Given the description of an element on the screen output the (x, y) to click on. 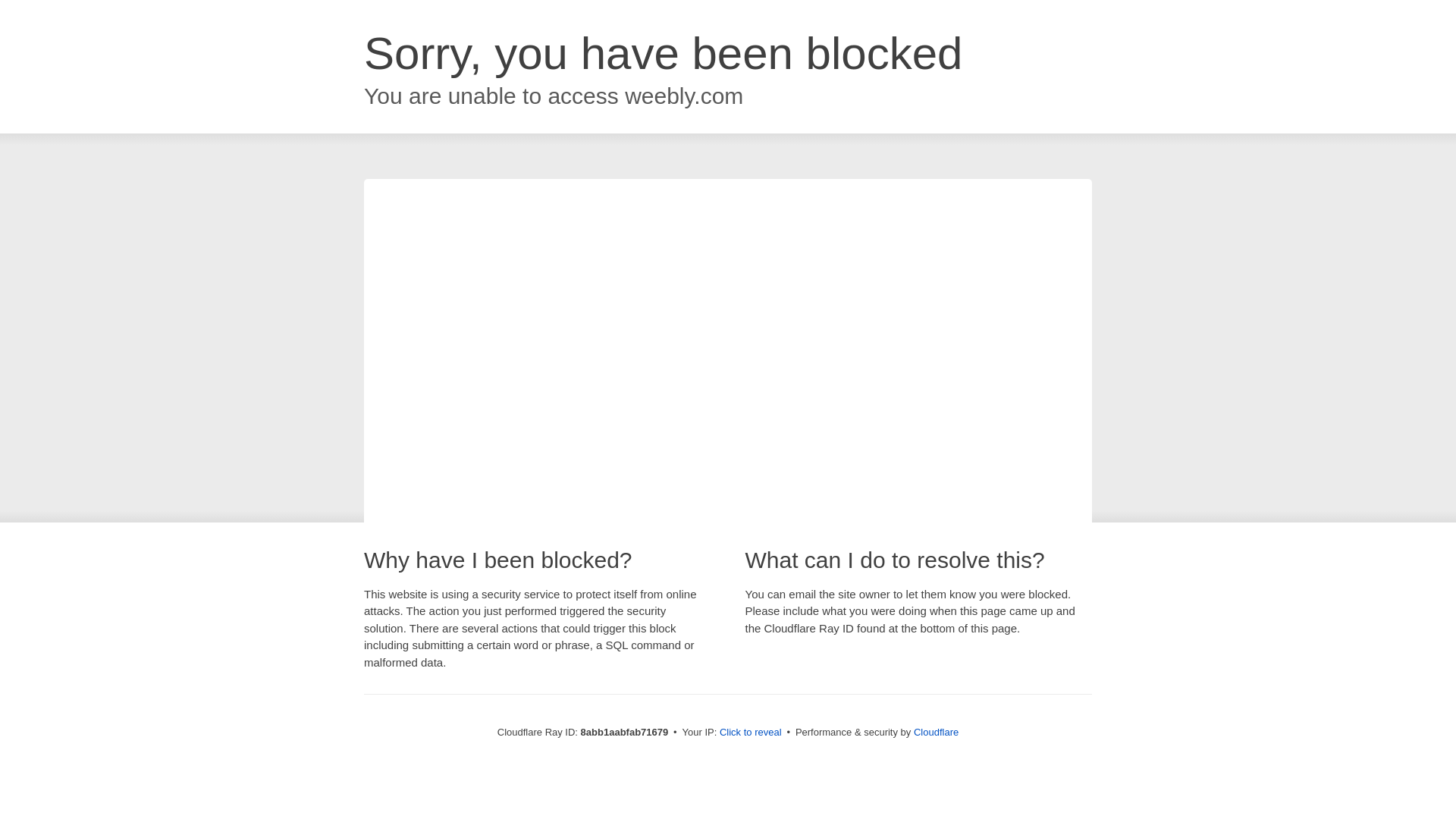
Click to reveal (750, 732)
Cloudflare (936, 731)
